Given the description of an element on the screen output the (x, y) to click on. 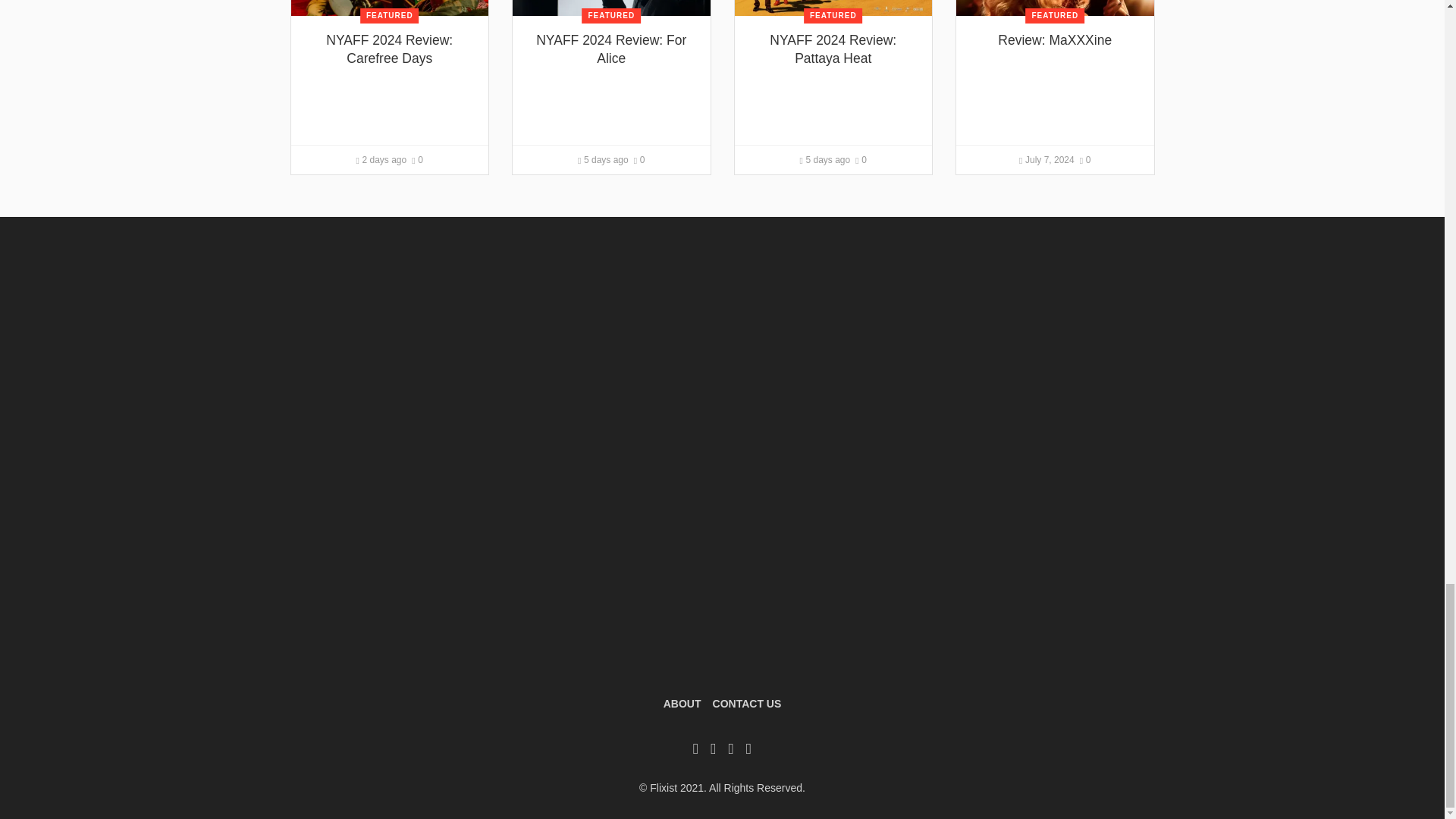
July 16, 2024 at 12:00 pm (381, 159)
